Given the description of an element on the screen output the (x, y) to click on. 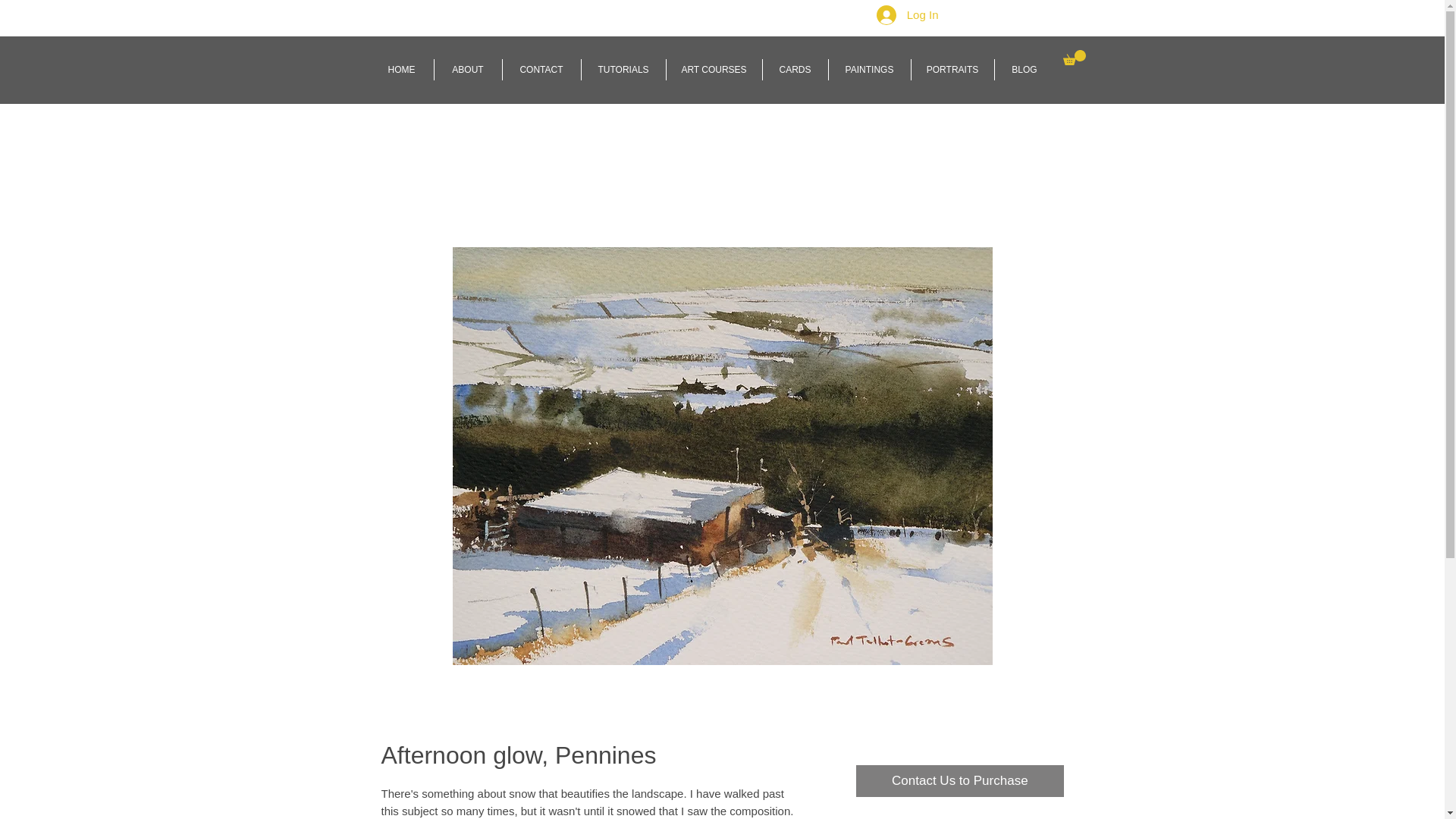
Contact Us to Purchase (959, 780)
ABOUT (466, 69)
CONTACT (540, 69)
CARDS (795, 69)
Log In (907, 14)
ART COURSES (713, 69)
PAINTINGS (869, 69)
TUTORIALS (622, 69)
HOME (401, 69)
BLOG (1024, 69)
PORTRAITS (952, 69)
